Given the description of an element on the screen output the (x, y) to click on. 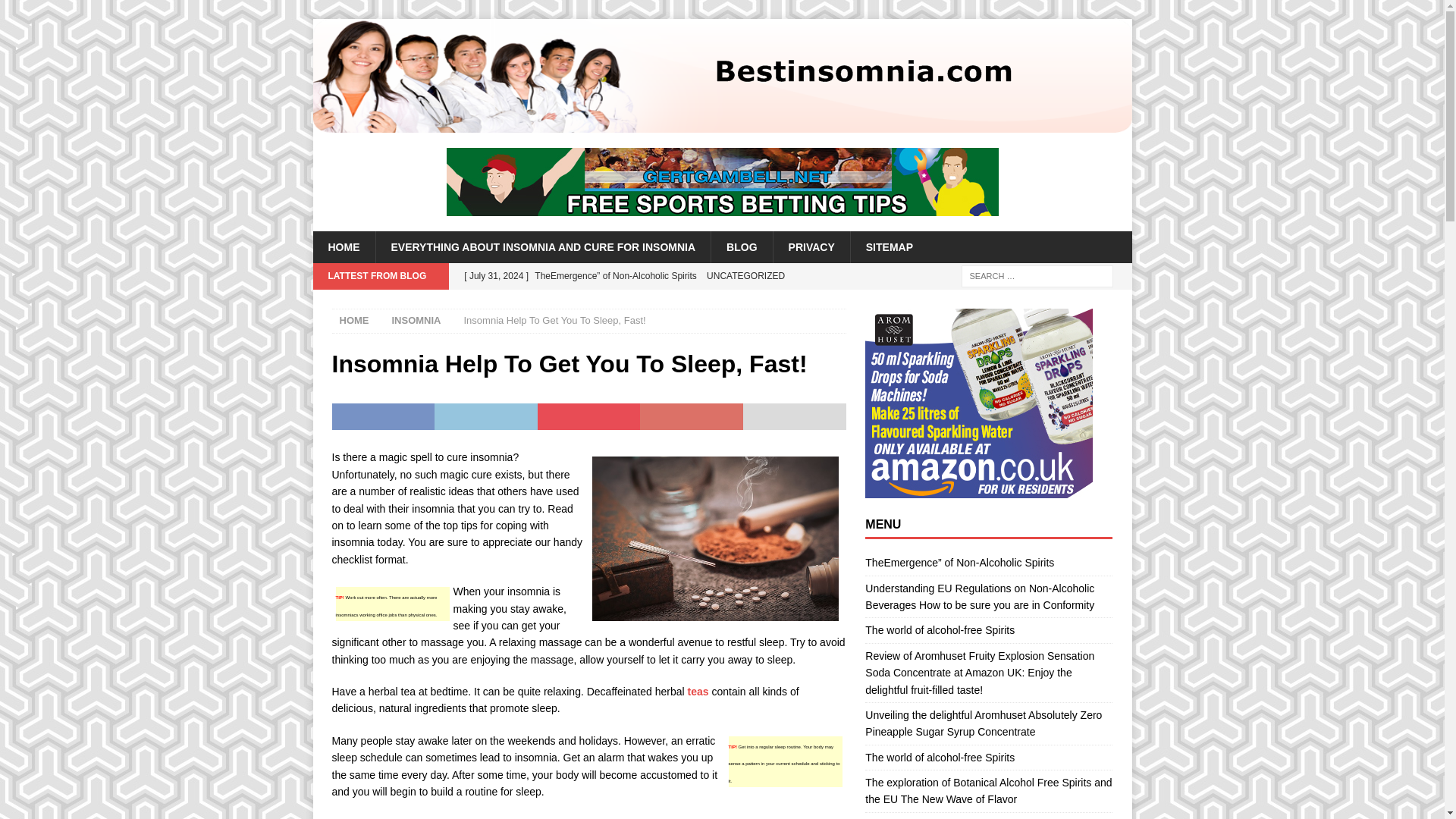
INSOMNIA (416, 319)
BLOG (740, 246)
SITEMAP (889, 246)
EVERYTHING ABOUT INSOMNIA AND CURE FOR INSOMNIA (542, 246)
bestinsomnia (722, 123)
PRIVACY (811, 246)
Gert Gambell - Free Sports Betting Tips! (721, 182)
teas (698, 691)
HOME (343, 246)
